Given the description of an element on the screen output the (x, y) to click on. 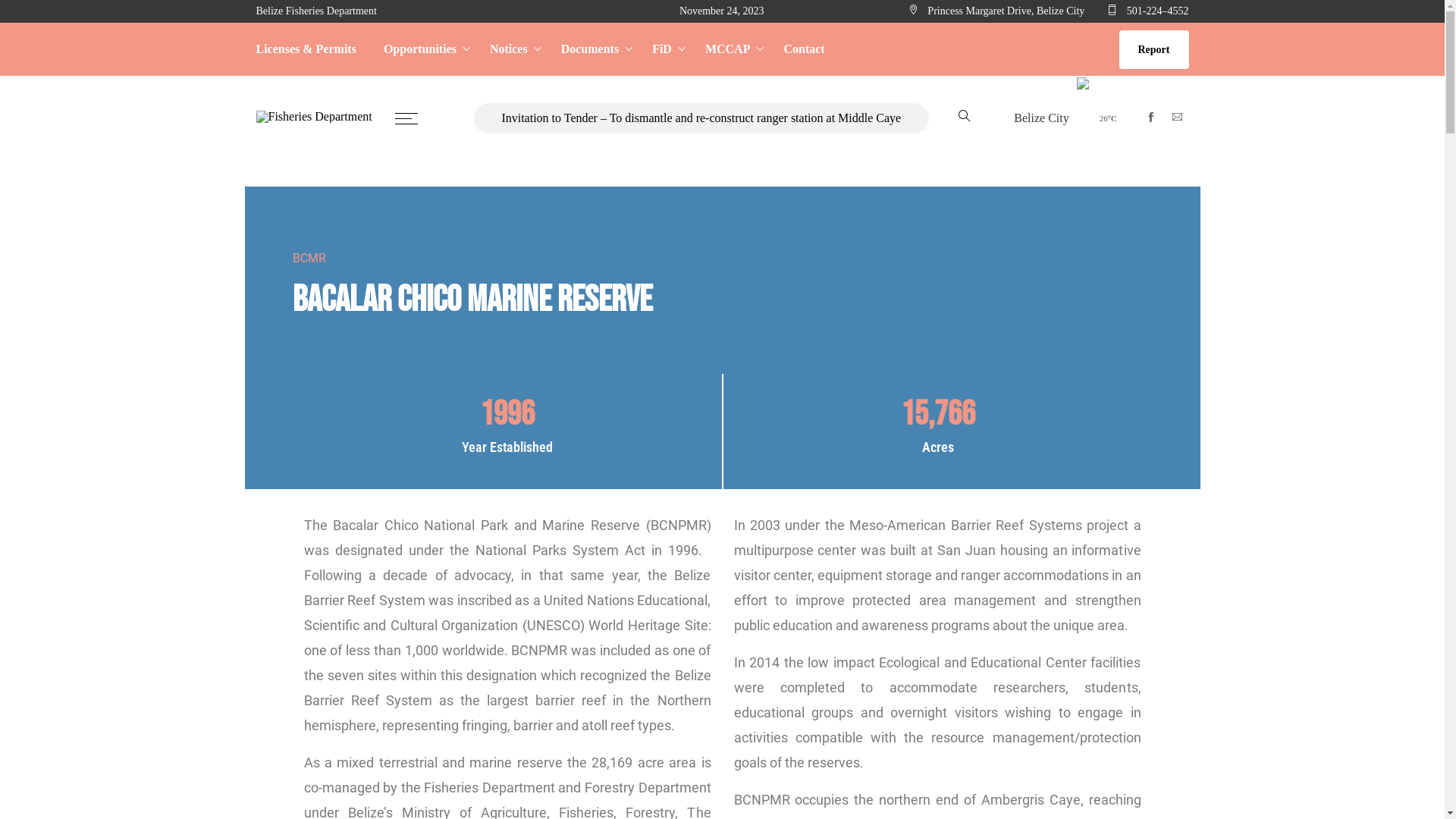
Gender & Diversity Assessment Element type: text (701, 238)
FiD Element type: text (664, 48)
MCCAP Element type: text (730, 48)
Contact Element type: text (796, 48)
Report Element type: text (1154, 49)
Licenses & Permits Element type: text (313, 48)
Notices Element type: text (511, 48)
Fisheries Department Element type: hover (314, 118)
Fisheries Department Element type: hover (314, 116)
Opportunities Element type: text (423, 48)
Documents Element type: text (592, 48)
